Given the description of an element on the screen output the (x, y) to click on. 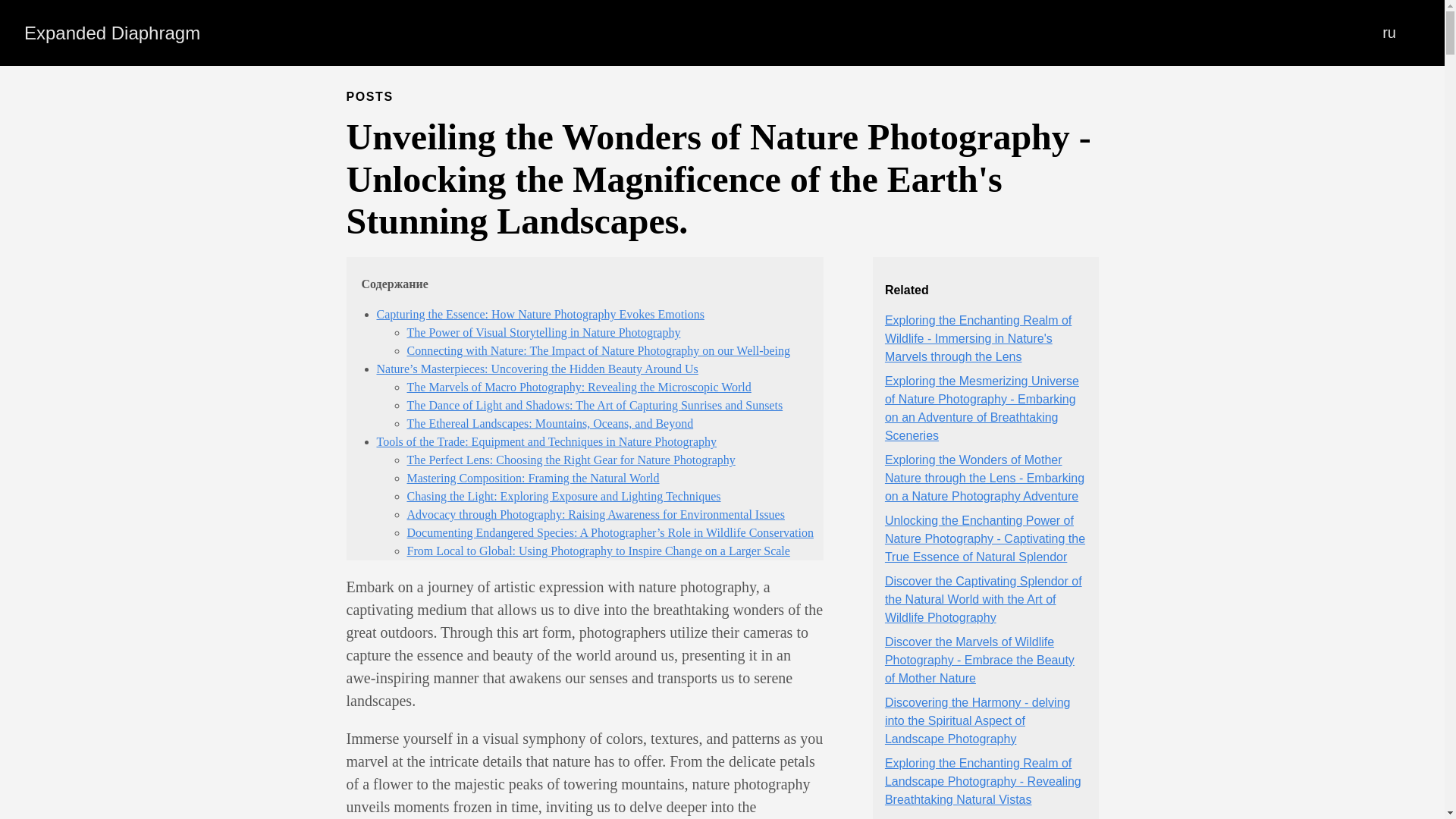
Expanded Diaphragm (112, 33)
